Given the description of an element on the screen output the (x, y) to click on. 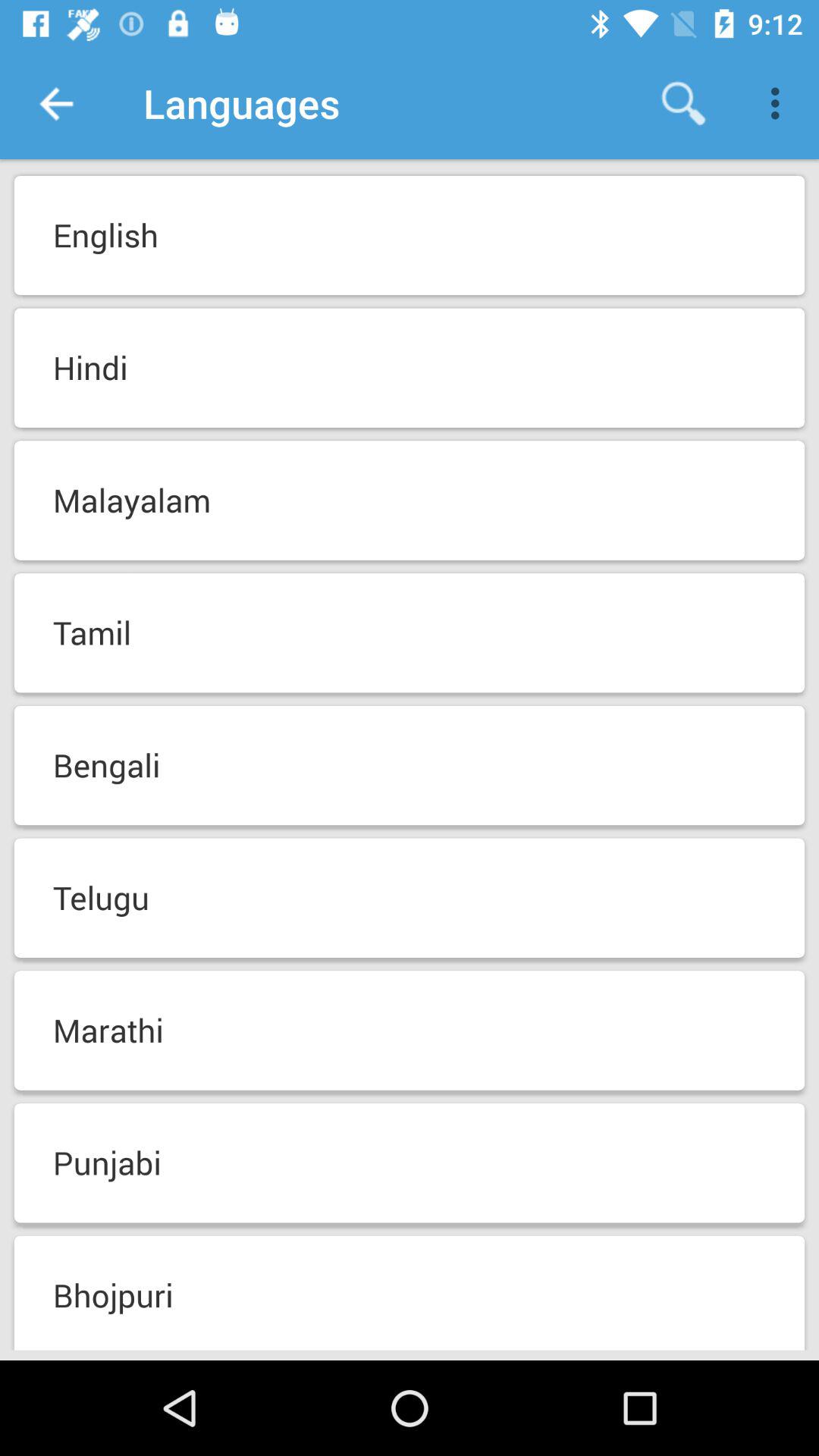
select item above the english item (683, 103)
